Given the description of an element on the screen output the (x, y) to click on. 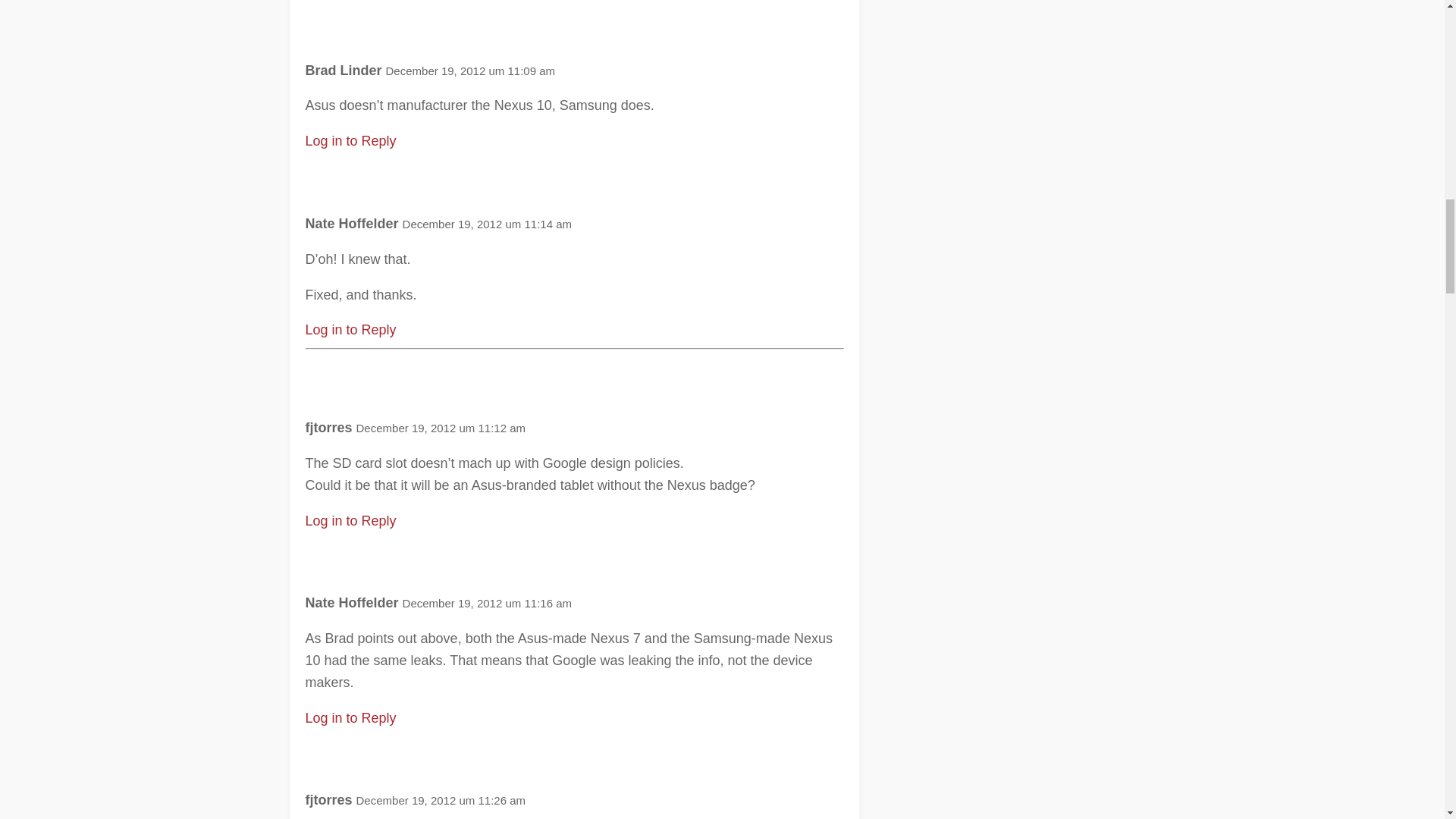
Log in to Reply (350, 717)
Log in to Reply (350, 520)
Log in to Reply (350, 140)
Log in to Reply (350, 329)
